Given the description of an element on the screen output the (x, y) to click on. 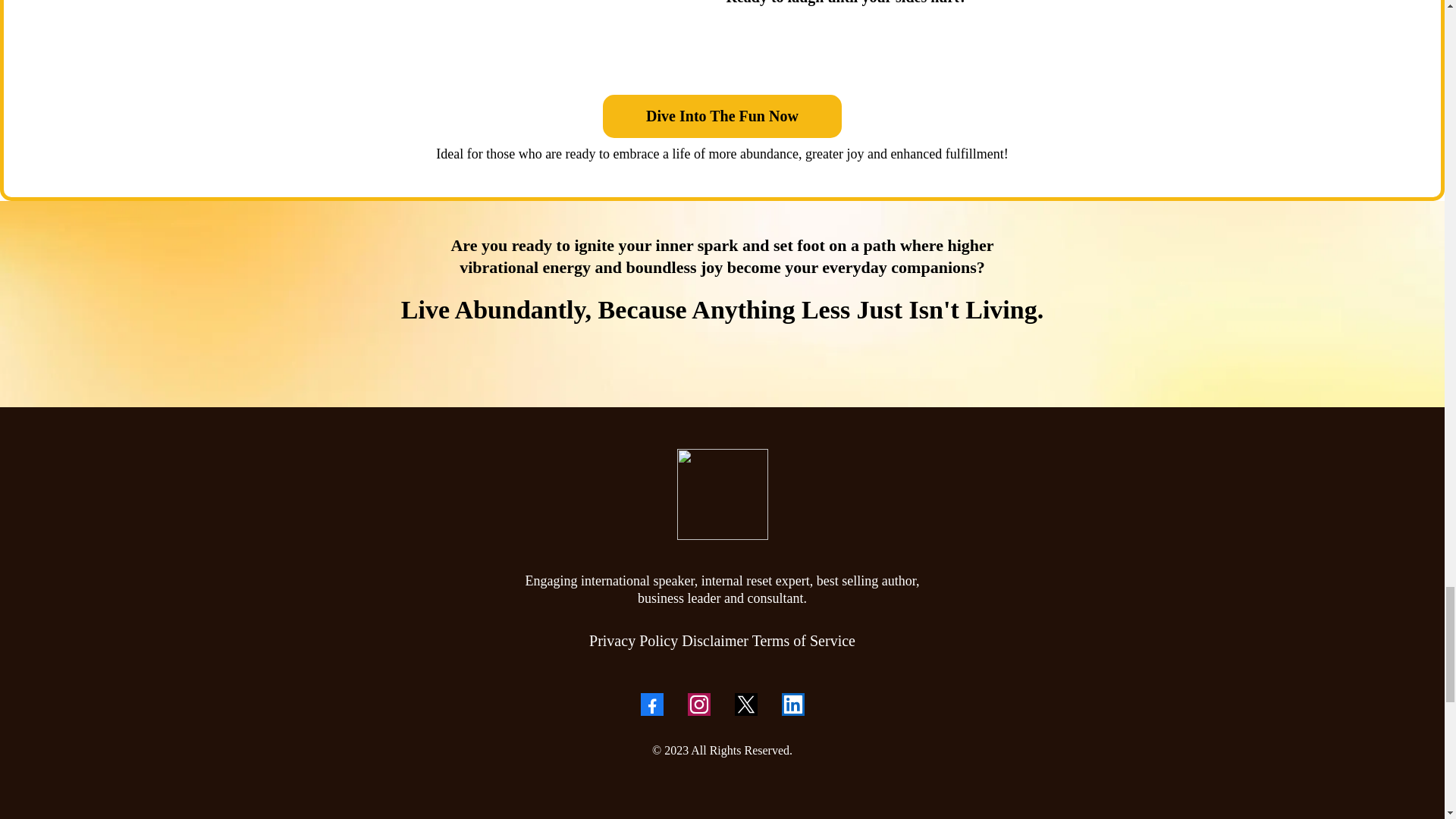
Dive Into The Fun Now (721, 116)
Disclaimer (714, 640)
Terms of Service (804, 640)
Privacy Policy (635, 640)
